Given the description of an element on the screen output the (x, y) to click on. 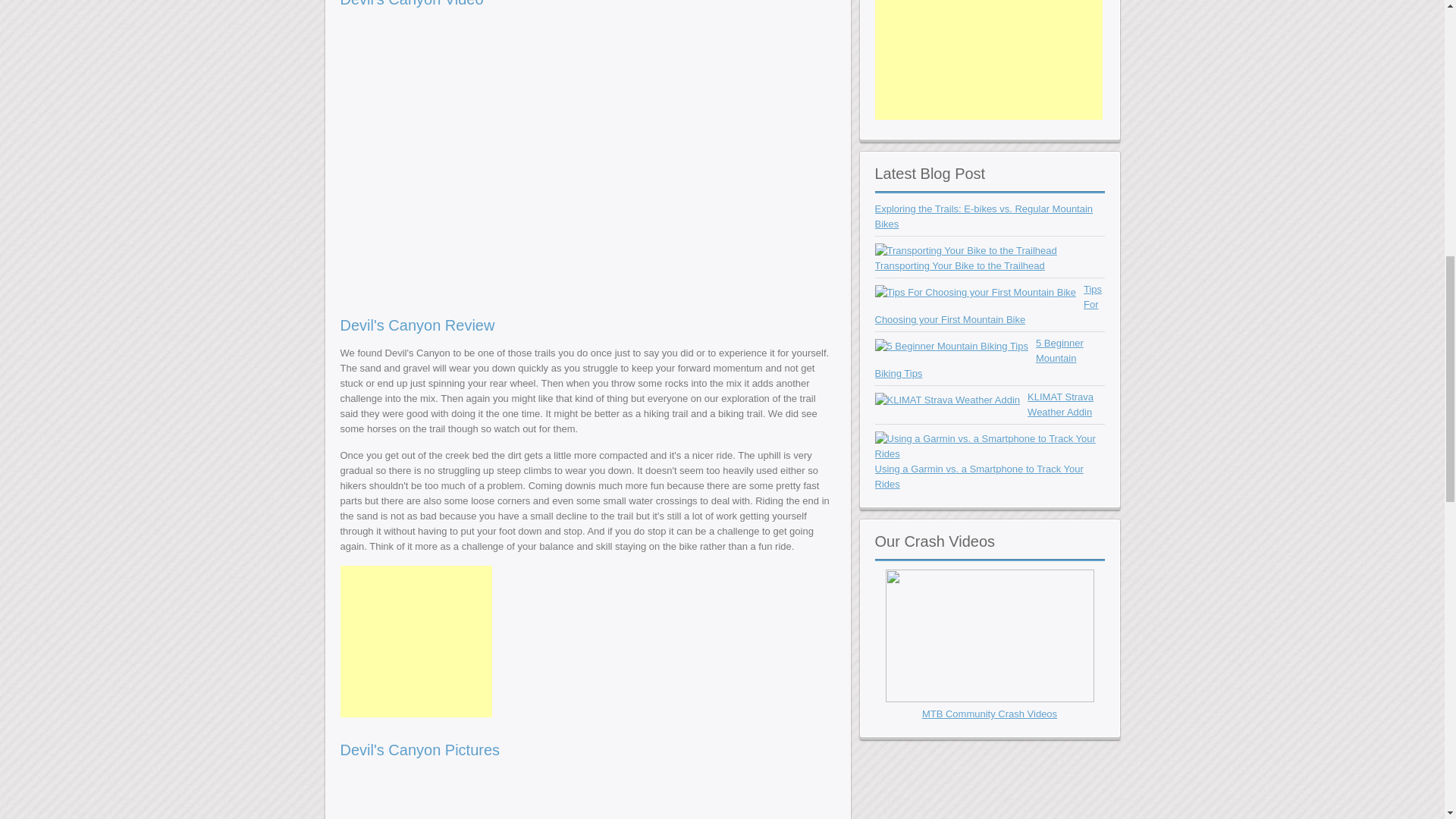
5 Beginner Mountain Biking Tips (951, 346)
Tips For Choosing your First Mountain Bike (988, 304)
KLIMAT Strava Weather Addin (1060, 404)
Transporting Your Bike to the Trailhead (966, 250)
KLIMAT Strava Weather Addin (947, 400)
KLIMAT Strava Weather Addin (947, 399)
Devil's Canyon (624, 794)
Exploring the Trails: E-bikes vs. Regular Mountain Bikes (984, 216)
Tips For Choosing your First Mountain Bike (976, 292)
Transporting Your Bike to the Trailhead (966, 250)
5 Beginner Mountain Biking Tips (951, 346)
Tips For Choosing your First Mountain Bike (976, 292)
Transporting Your Bike to the Trailhead (960, 265)
Devil's Canyon (434, 794)
5 Beginner Mountain Biking Tips (979, 358)
